Given the description of an element on the screen output the (x, y) to click on. 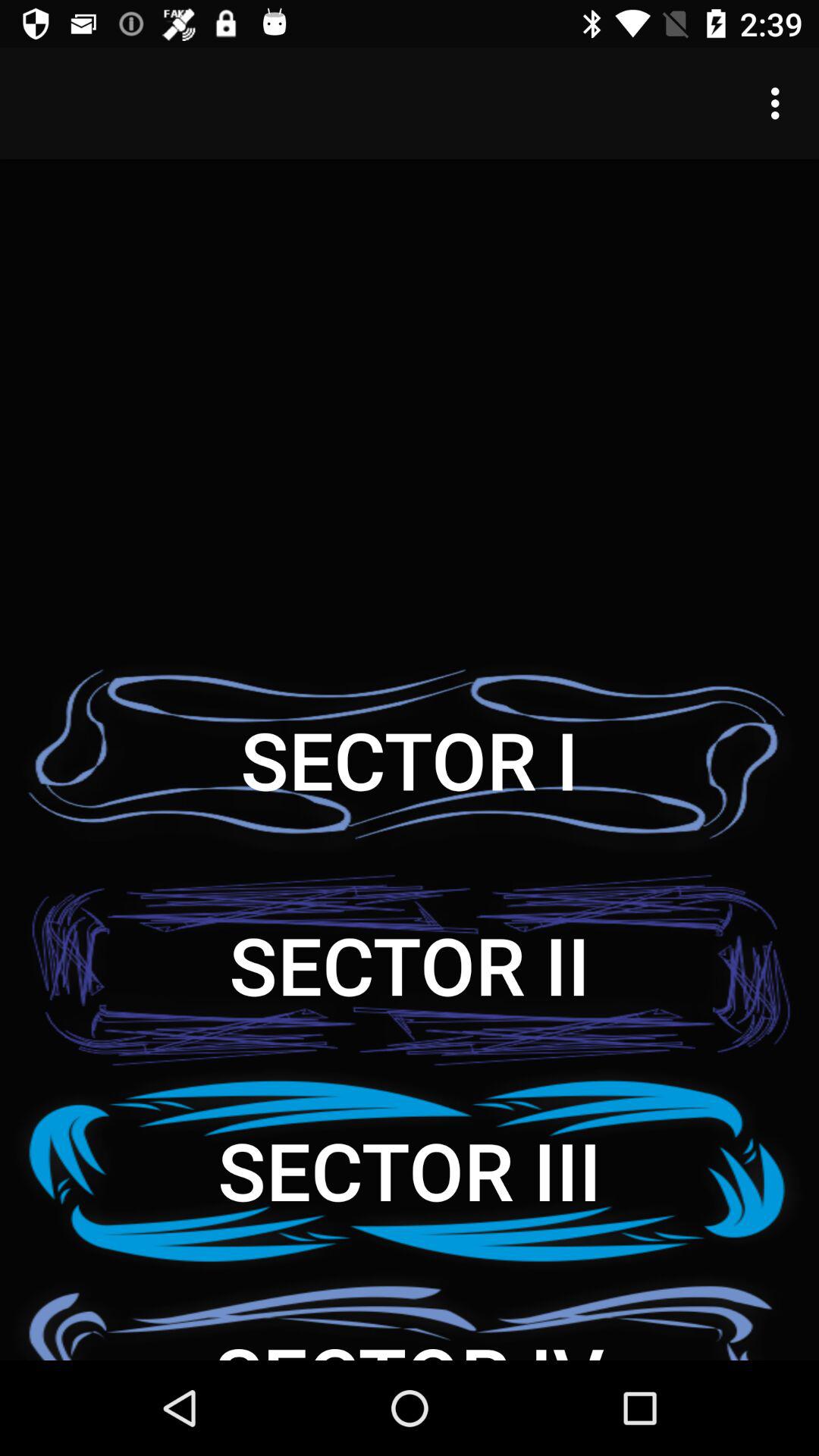
tap sector ii item (409, 964)
